Given the description of an element on the screen output the (x, y) to click on. 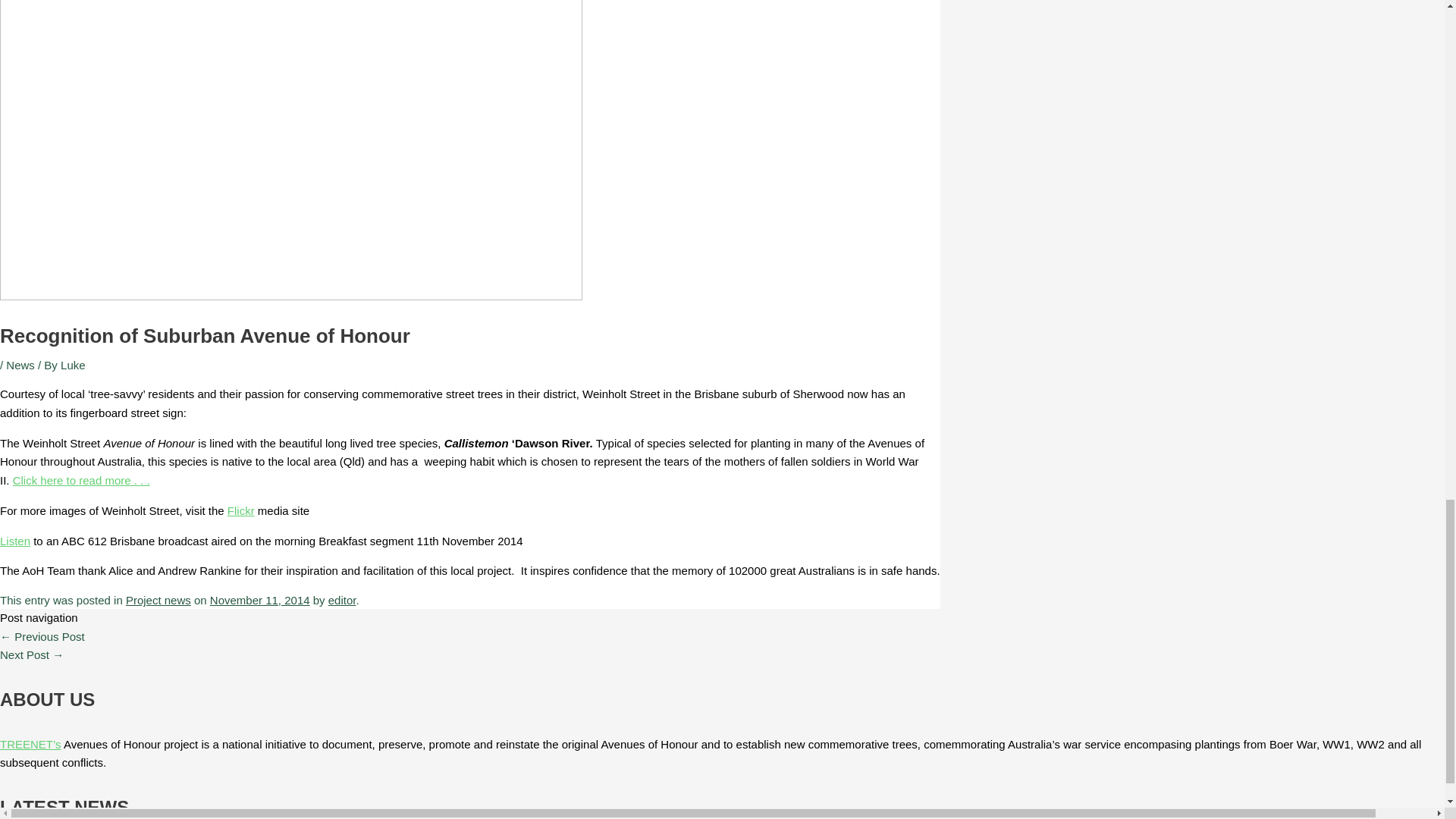
News (19, 364)
Luke (73, 364)
Commemorating Indigenous War Veterans (42, 635)
View all posts by editor (342, 599)
9:07 am (259, 599)
View all posts by Luke (73, 364)
Chandada Avenue of Honour (32, 654)
Weinholt Street Avenue of Honour (81, 480)
